Given the description of an element on the screen output the (x, y) to click on. 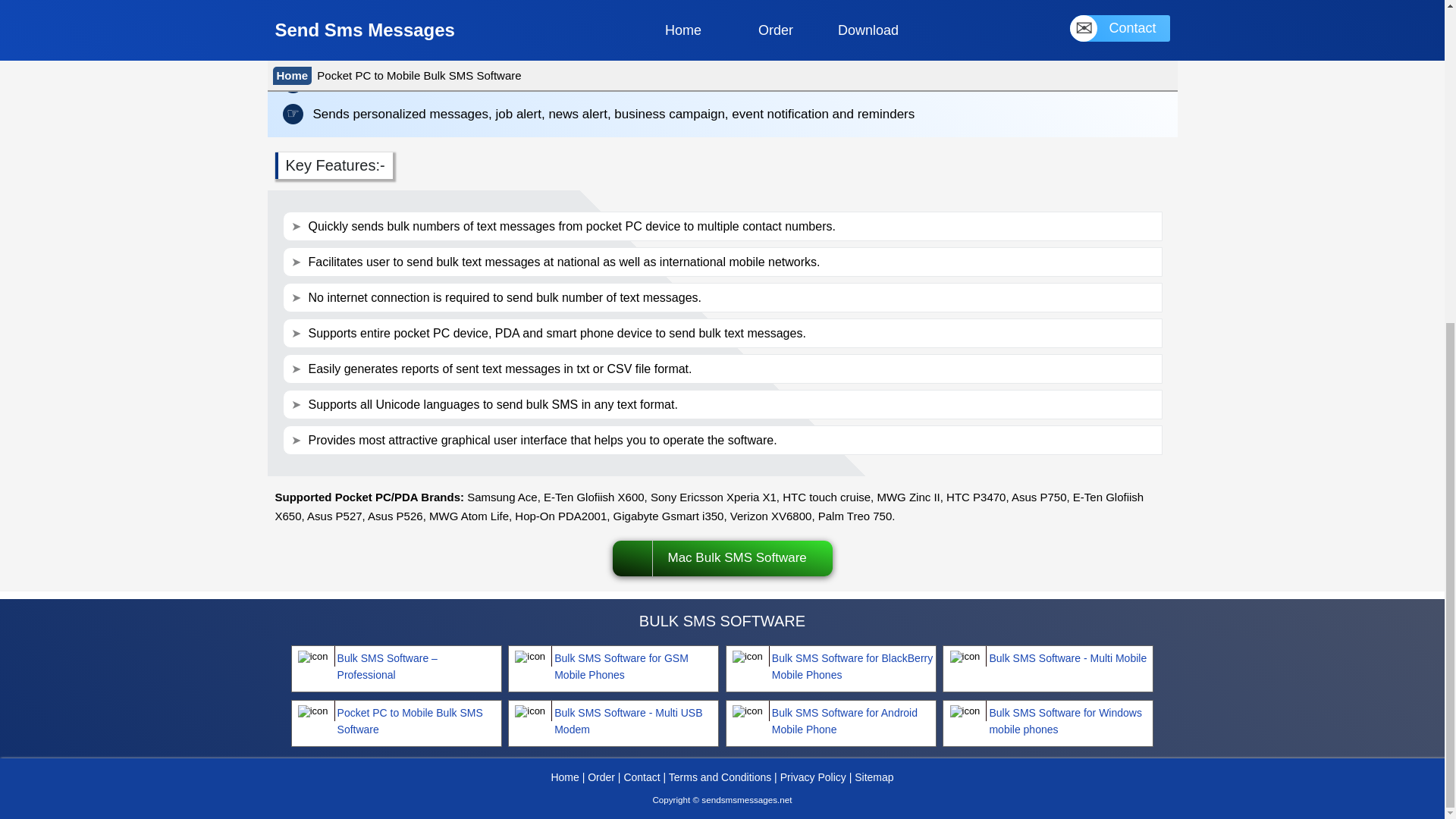
Contact (641, 776)
Mac Bulk SMS Software (722, 558)
Privacy Policy (812, 776)
Terms and Conditions (719, 776)
Home (564, 776)
Sitemap (873, 776)
Mac Software (722, 558)
Order (601, 776)
